Given the description of an element on the screen output the (x, y) to click on. 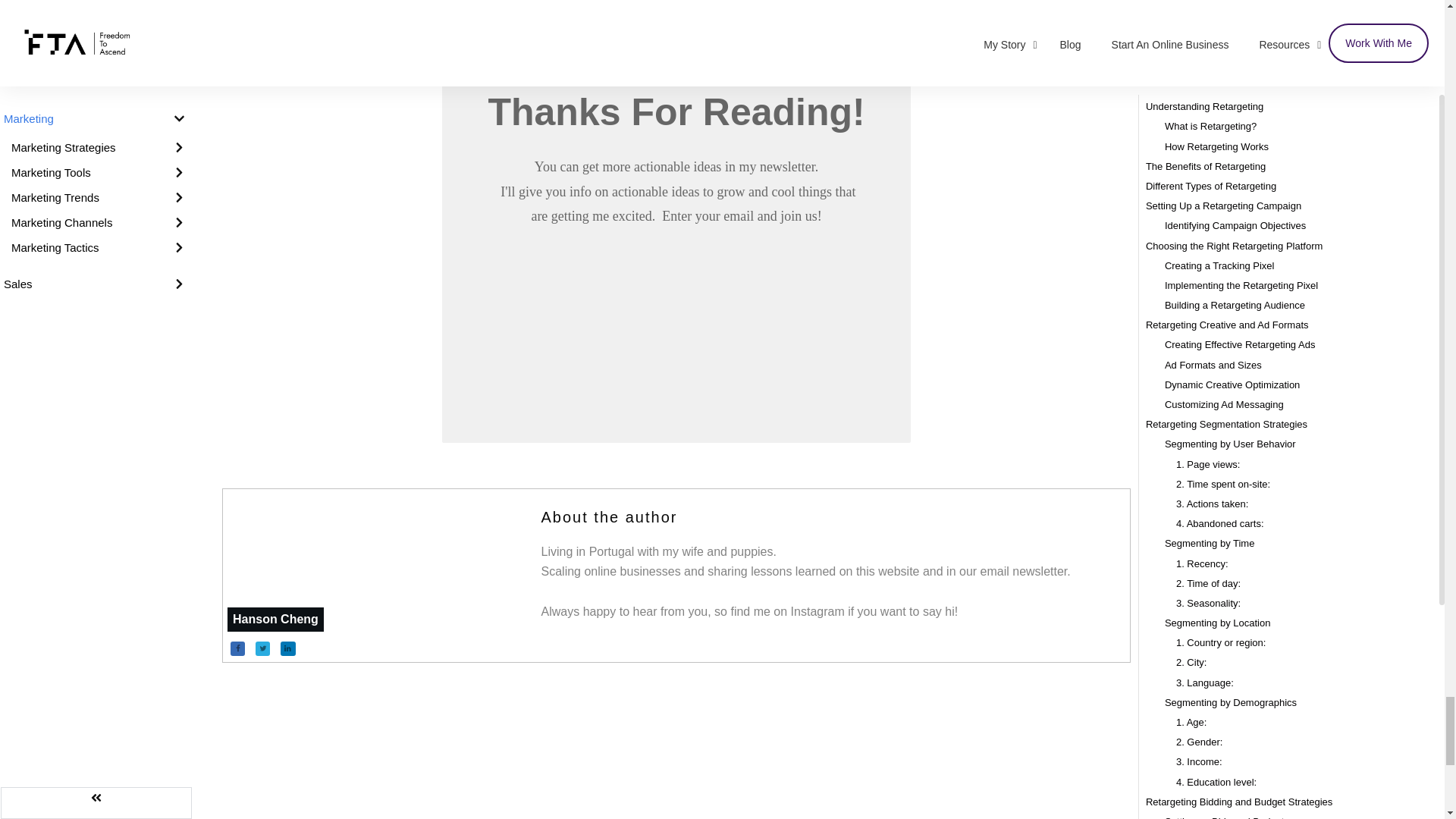
FTA Email Optin (675, 309)
